Given the description of an element on the screen output the (x, y) to click on. 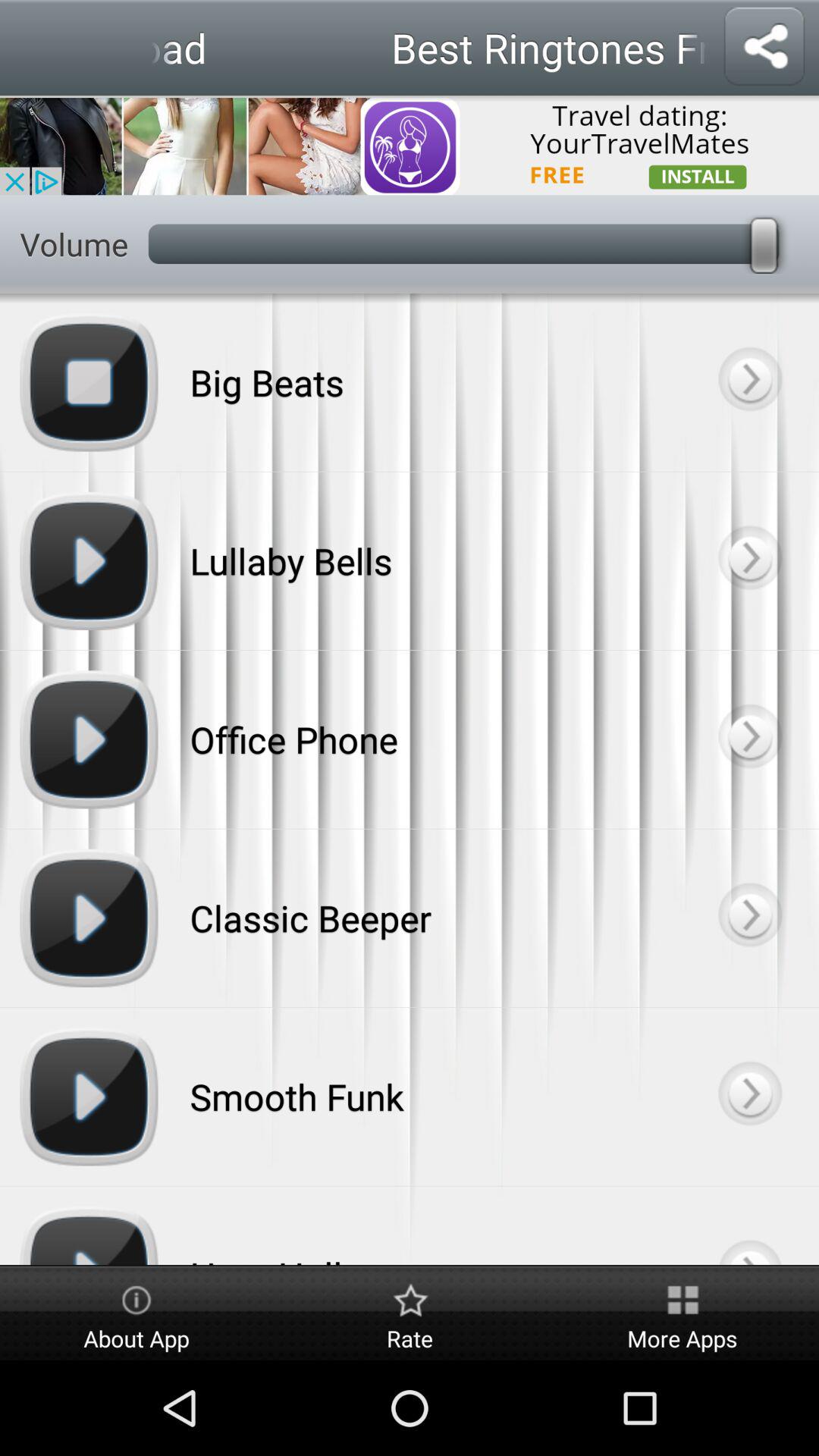
to share (764, 47)
